Given the description of an element on the screen output the (x, y) to click on. 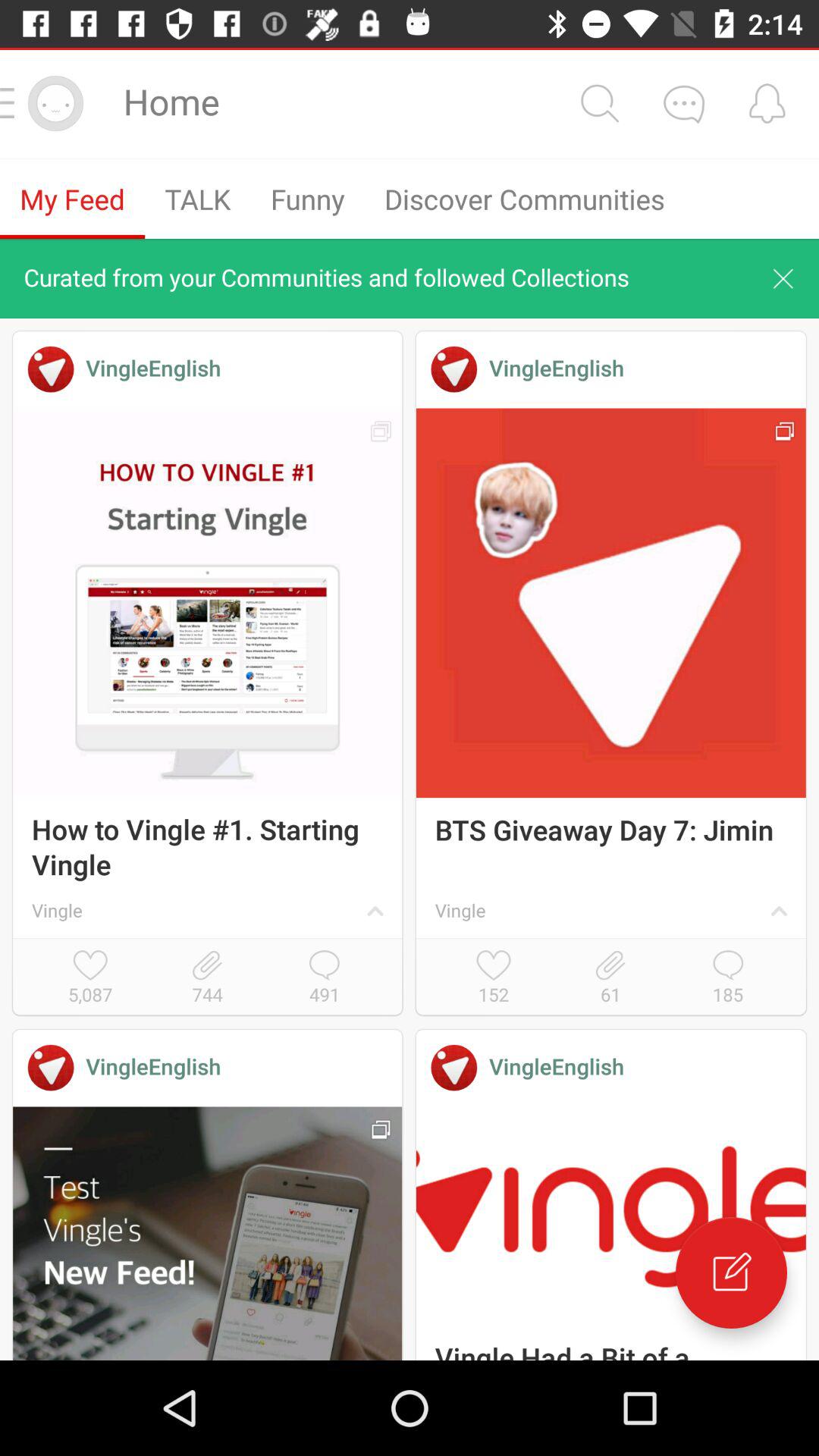
write a comment (731, 1272)
